Given the description of an element on the screen output the (x, y) to click on. 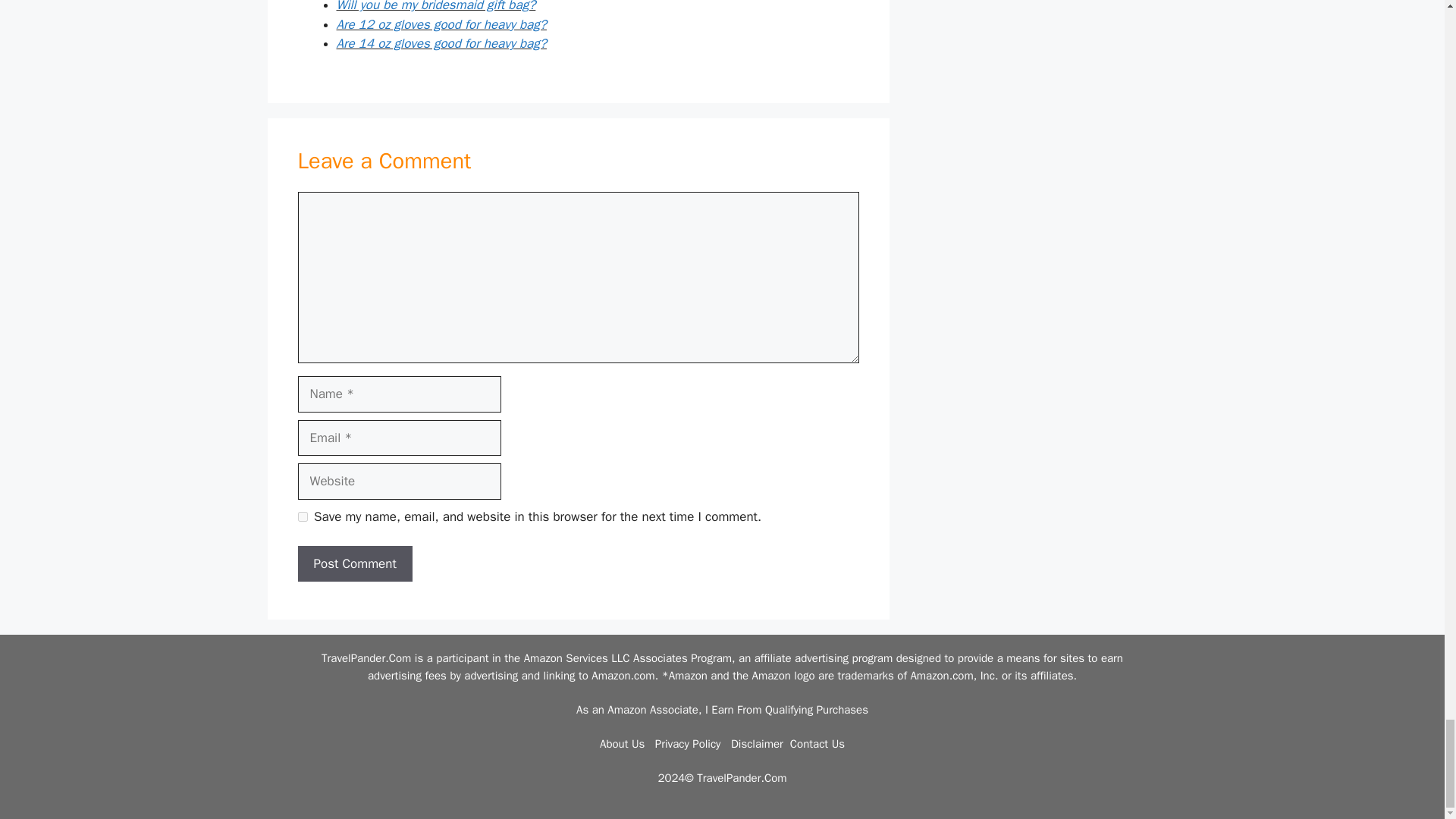
Disclaimer (756, 744)
Post Comment (354, 564)
About Us (622, 744)
Will you be my bridesmaid gift bag? (435, 6)
yes (302, 516)
Privacy Policy (687, 744)
Contact Us (817, 744)
Post Comment (354, 564)
Are 14 oz gloves good for heavy bag? (441, 43)
Are 12 oz gloves good for heavy bag? (441, 24)
